Given the description of an element on the screen output the (x, y) to click on. 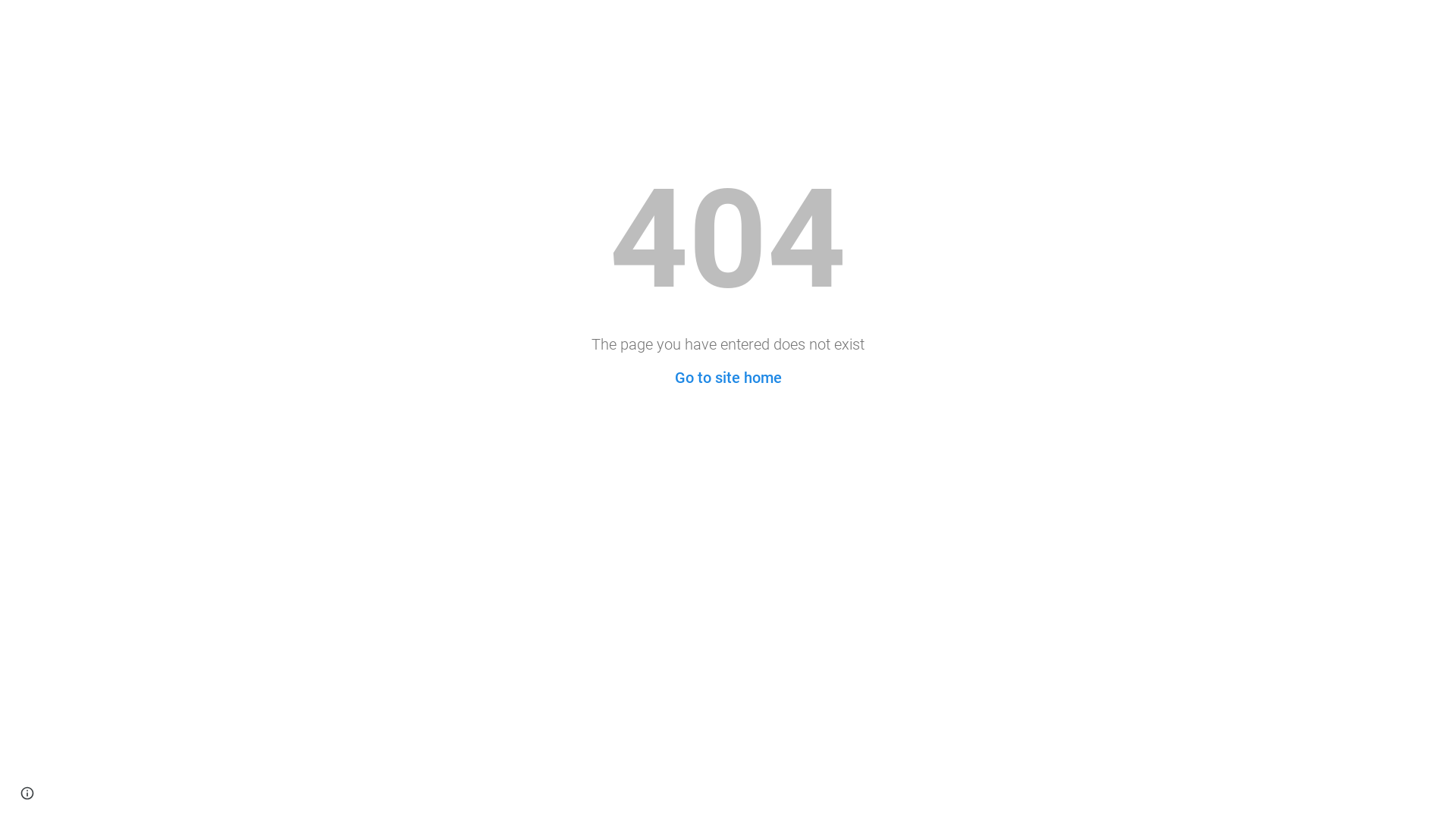
Go to site home Element type: text (727, 377)
